Given the description of an element on the screen output the (x, y) to click on. 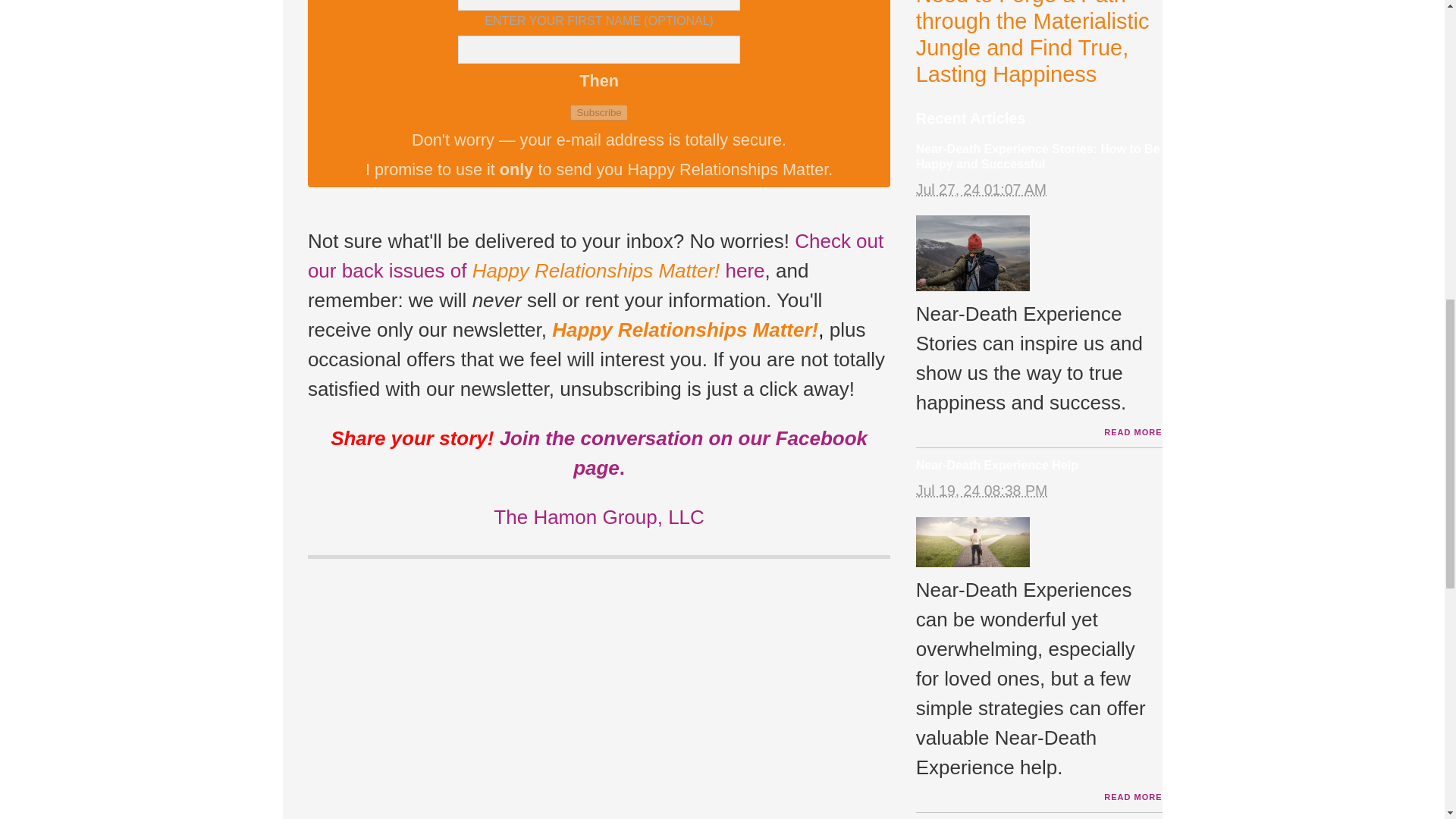
2024-07-27T01:07:57-0400 (980, 189)
Near-Death Experience Help (996, 464)
Join the conversation on our Facebook page (683, 452)
READ MORE (1132, 431)
2024-07-19T20:38:34-0400 (980, 490)
The Hamon Group, LLC (598, 517)
READ MORE (1132, 796)
Recent Articles (970, 117)
